Given the description of an element on the screen output the (x, y) to click on. 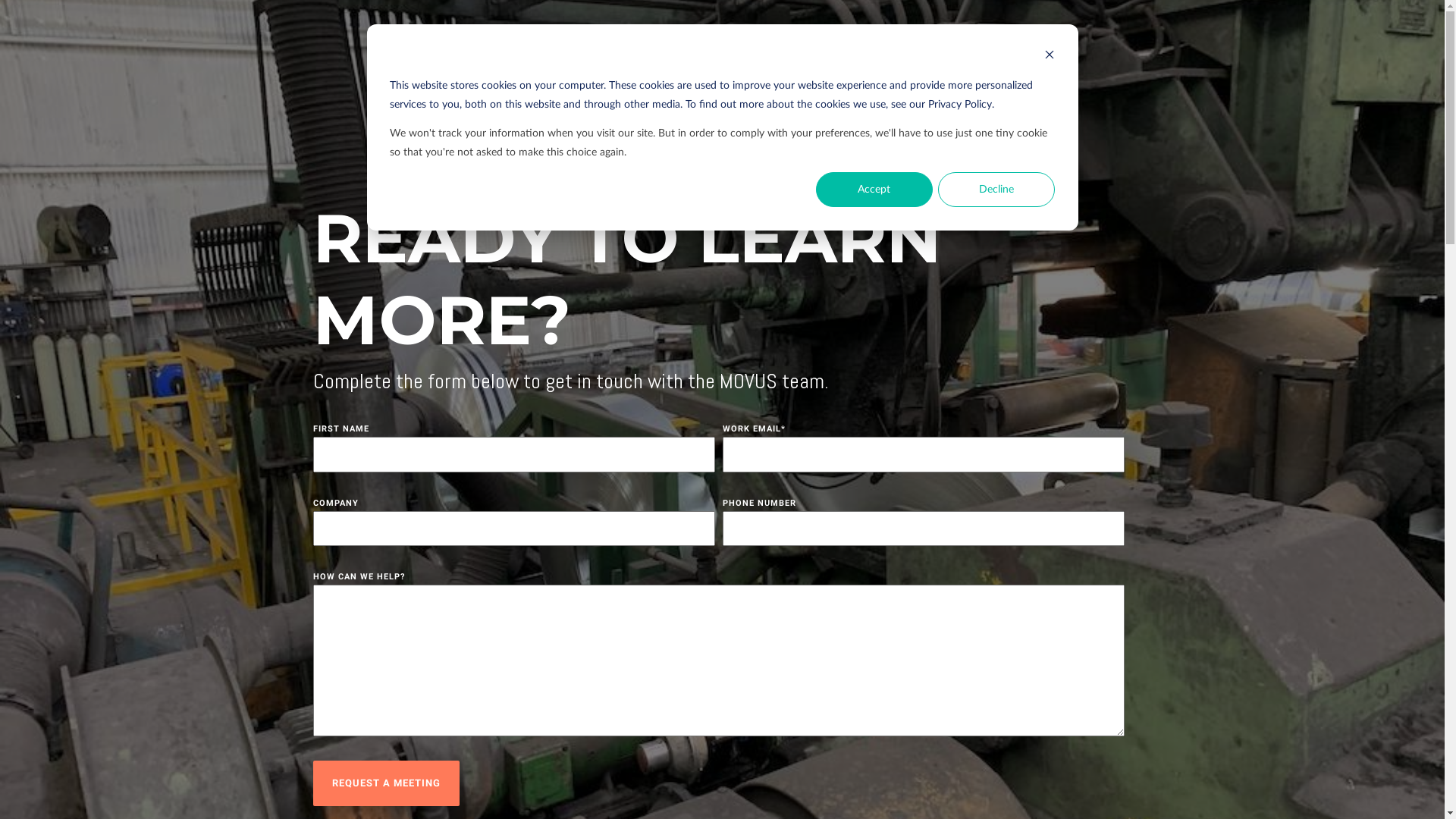
Accept Element type: text (873, 189)
Decline Element type: text (996, 189)
Request a Meeting Element type: text (385, 783)
